Given the description of an element on the screen output the (x, y) to click on. 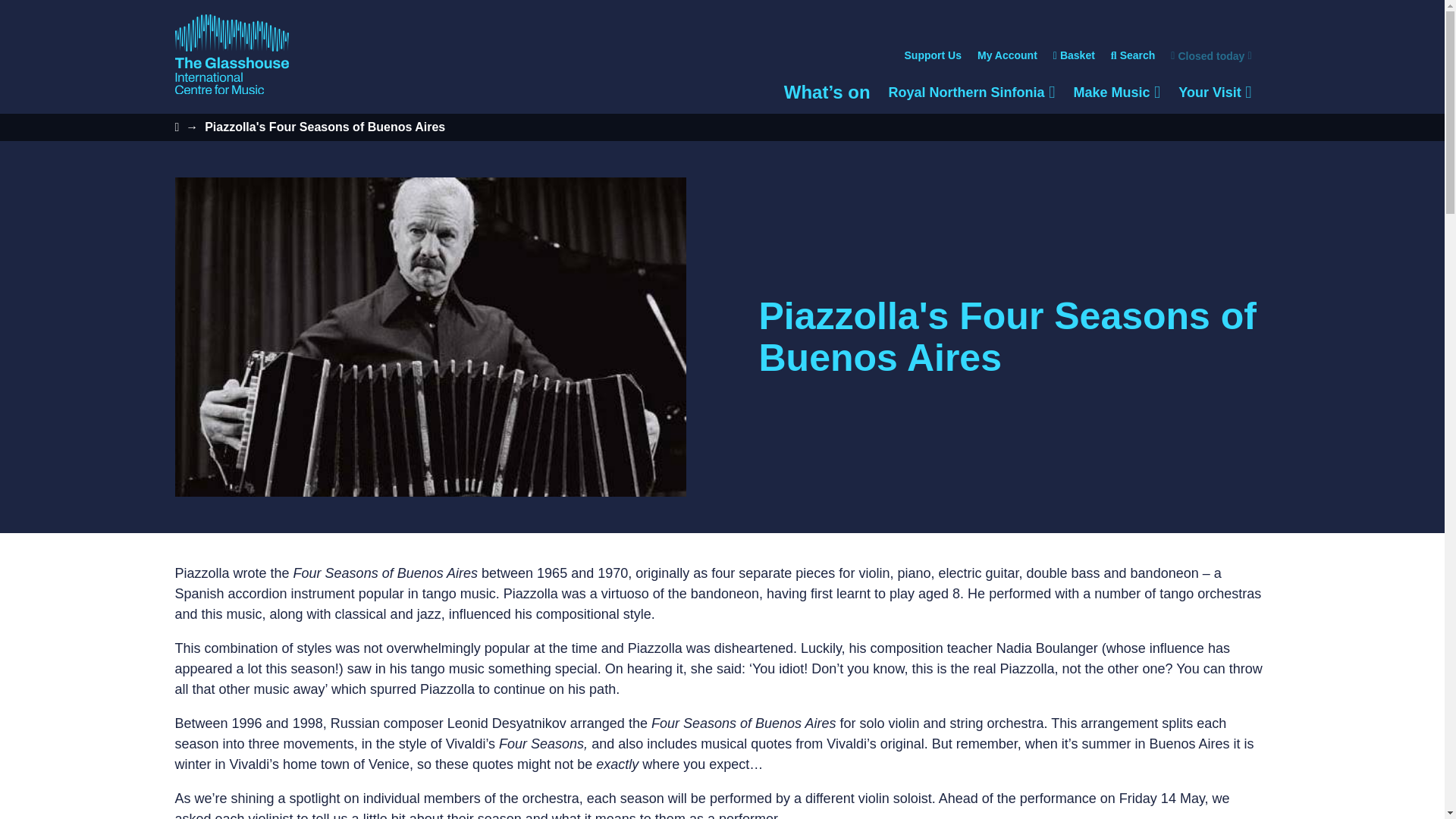
Closed today (1202, 55)
Search (1133, 55)
Basket (1073, 55)
Piazzolla (1116, 92)
My Account (971, 92)
Support Us (1006, 55)
